Given the description of an element on the screen output the (x, y) to click on. 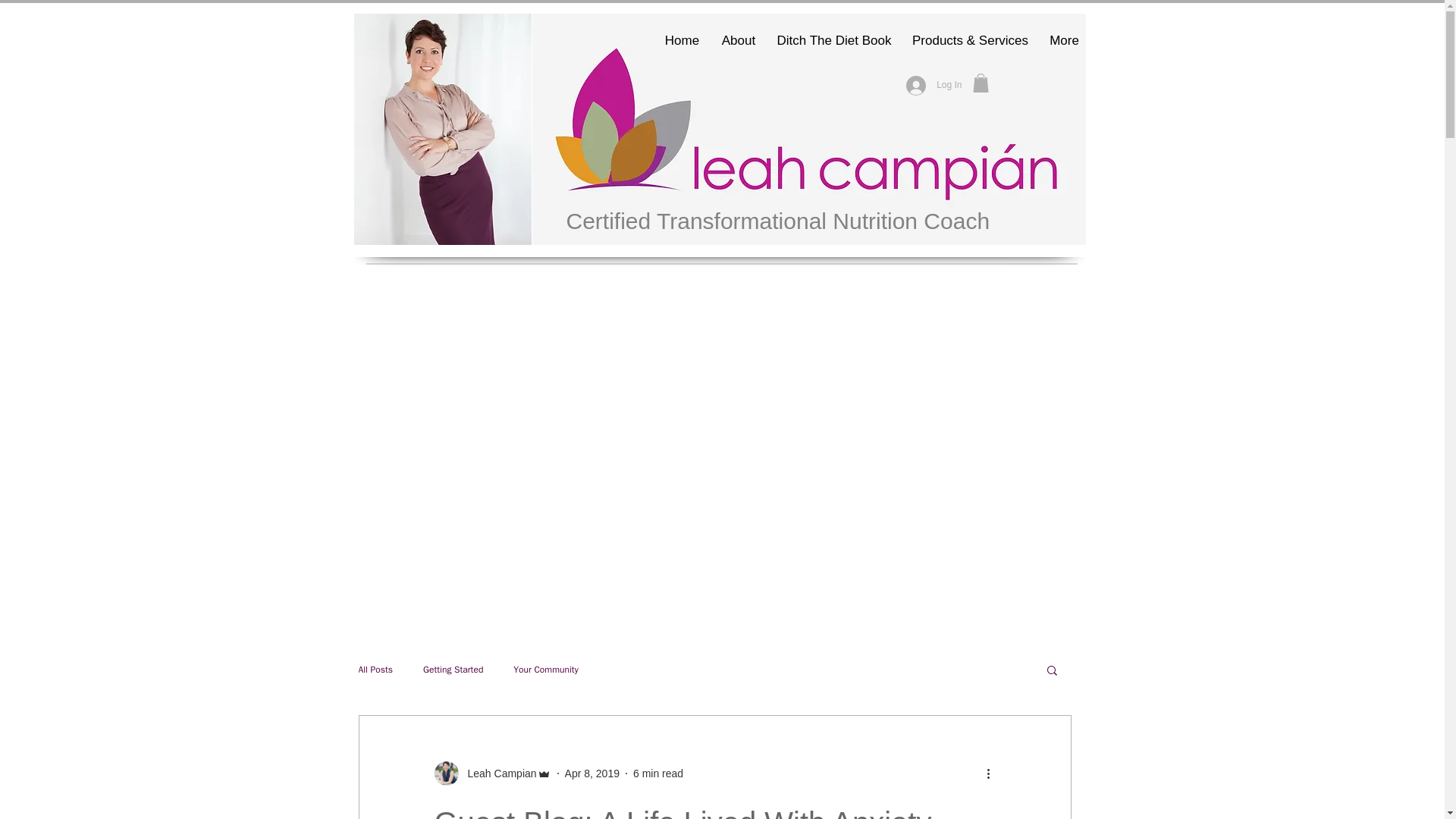
All Posts (375, 668)
About (739, 40)
Apr 8, 2019 (592, 773)
Home (682, 40)
Lcampian BrandLogo.jpg (809, 128)
Ditch The Diet Book (833, 40)
Leah Campian (496, 773)
Log In (933, 85)
Getting Started (453, 668)
Leah Campian (491, 773)
LeahCampian-10.jpg (442, 128)
Your Community (545, 668)
6 min read (657, 773)
